Given the description of an element on the screen output the (x, y) to click on. 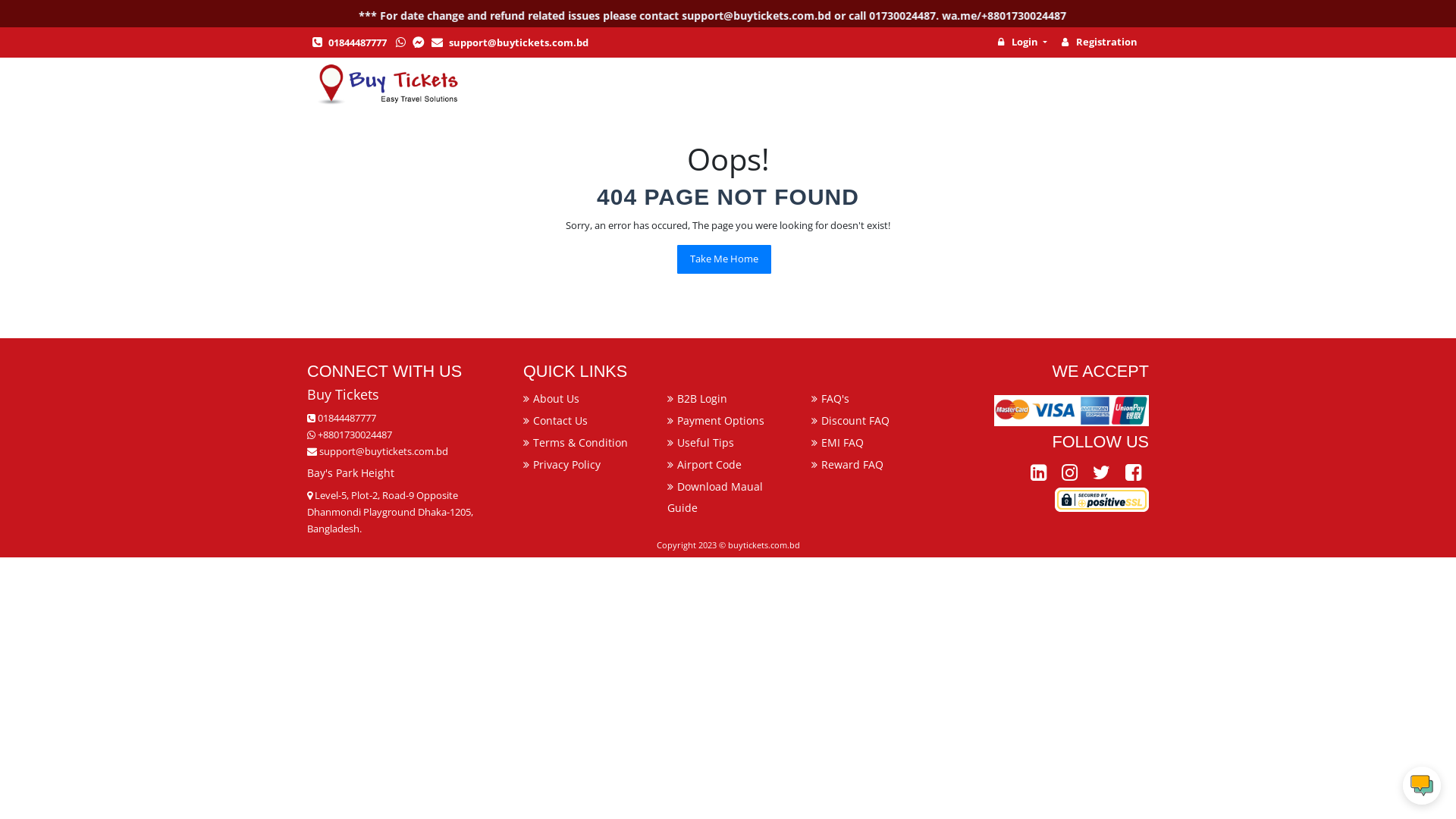
01844487777 Element type: text (341, 417)
Discount FAQ Element type: text (855, 419)
B2B Login Element type: text (702, 398)
+8801730024487 Element type: text (349, 434)
Login Element type: text (1018, 41)
Linkedin Element type: hover (1038, 472)
Terms & Condition Element type: text (580, 442)
Airport Code Element type: text (709, 463)
Registration Element type: text (1095, 41)
Useful Tips Element type: text (705, 442)
About Us Element type: text (556, 398)
support@buytickets.com.bd Element type: text (507, 42)
Reward FAQ Element type: text (852, 463)
EMI FAQ Element type: text (842, 442)
support@buytickets.com.bd Element type: text (377, 451)
Contact Us Element type: text (560, 419)
Download Maual Guide Element type: text (714, 496)
Instagram Element type: hover (1069, 472)
Facebook Element type: hover (1132, 472)
FAQ's Element type: text (835, 398)
01844487777 Element type: text (348, 42)
Privacy Policy Element type: text (566, 463)
Payment Options Element type: text (720, 419)
Twitter Element type: hover (1101, 472)
Take Me Home Element type: text (724, 258)
